Given the description of an element on the screen output the (x, y) to click on. 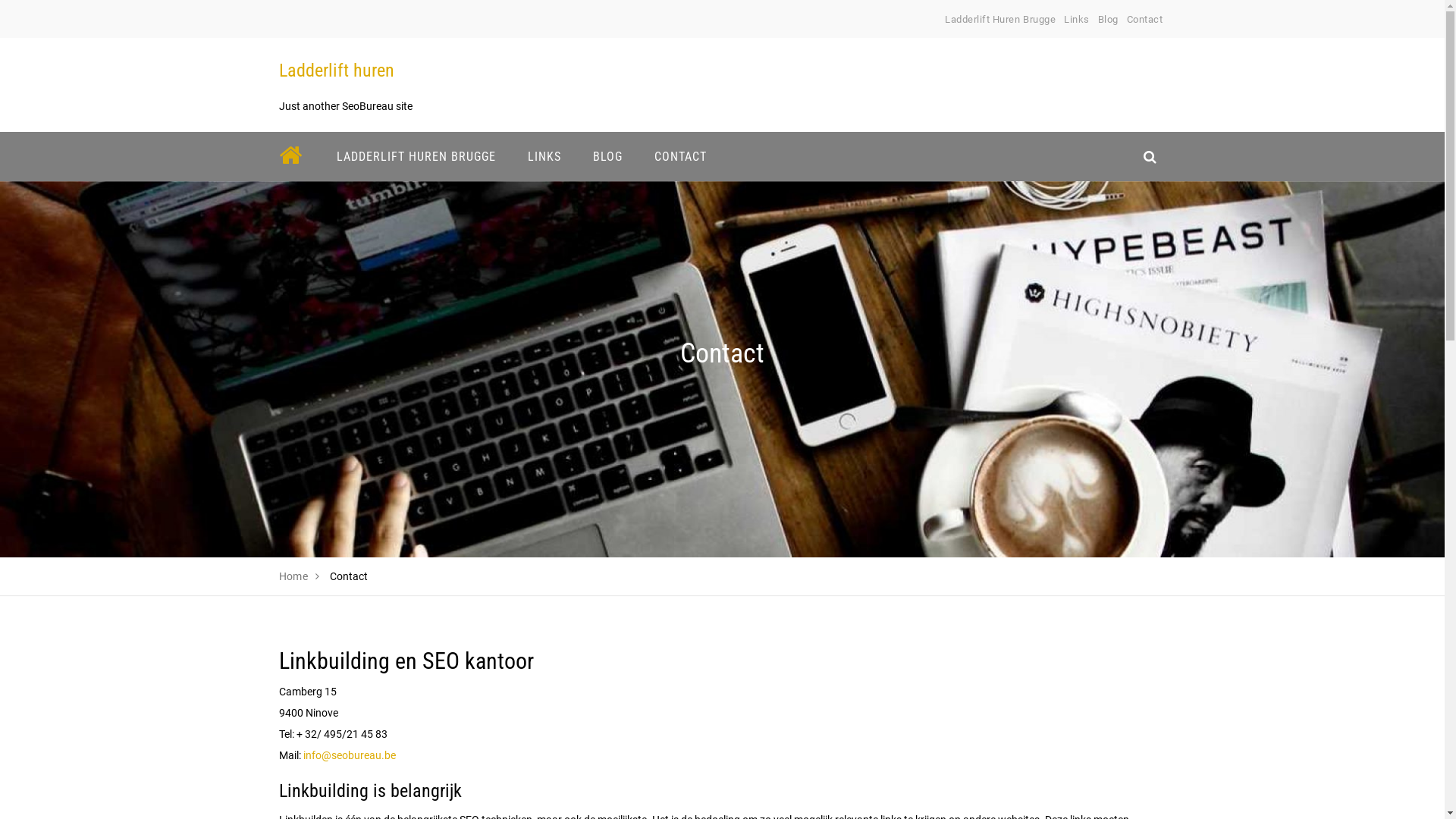
LINKS Element type: text (543, 156)
Blog Element type: text (1108, 19)
LADDERLIFT HUREN BRUGGE Element type: text (415, 156)
BLOG Element type: text (606, 156)
Contact Element type: text (1144, 19)
Ladderlift Huren Brugge Element type: text (999, 19)
Ladderlift huren Element type: text (336, 70)
Home Element type: text (293, 576)
CONTACT Element type: text (680, 156)
info@seobureau.be Element type: text (349, 755)
Links Element type: text (1076, 19)
search_icon Element type: hover (1148, 156)
